Given the description of an element on the screen output the (x, y) to click on. 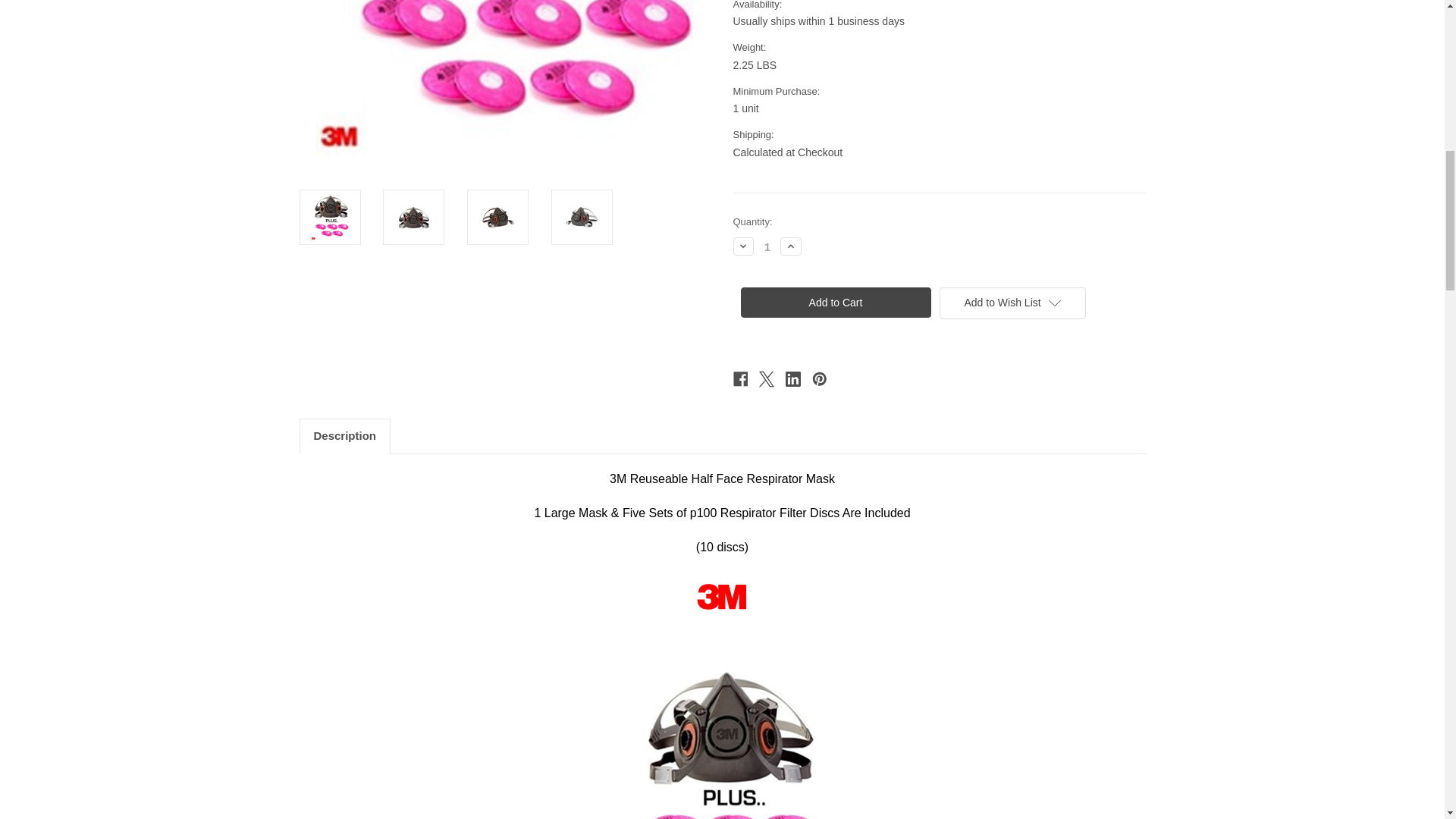
1 (767, 246)
3m-6300-front-view-with-five-filters.jpg (723, 744)
3m-logo-45pt-95x64.gif (721, 596)
Add to Cart (834, 302)
